Given the description of an element on the screen output the (x, y) to click on. 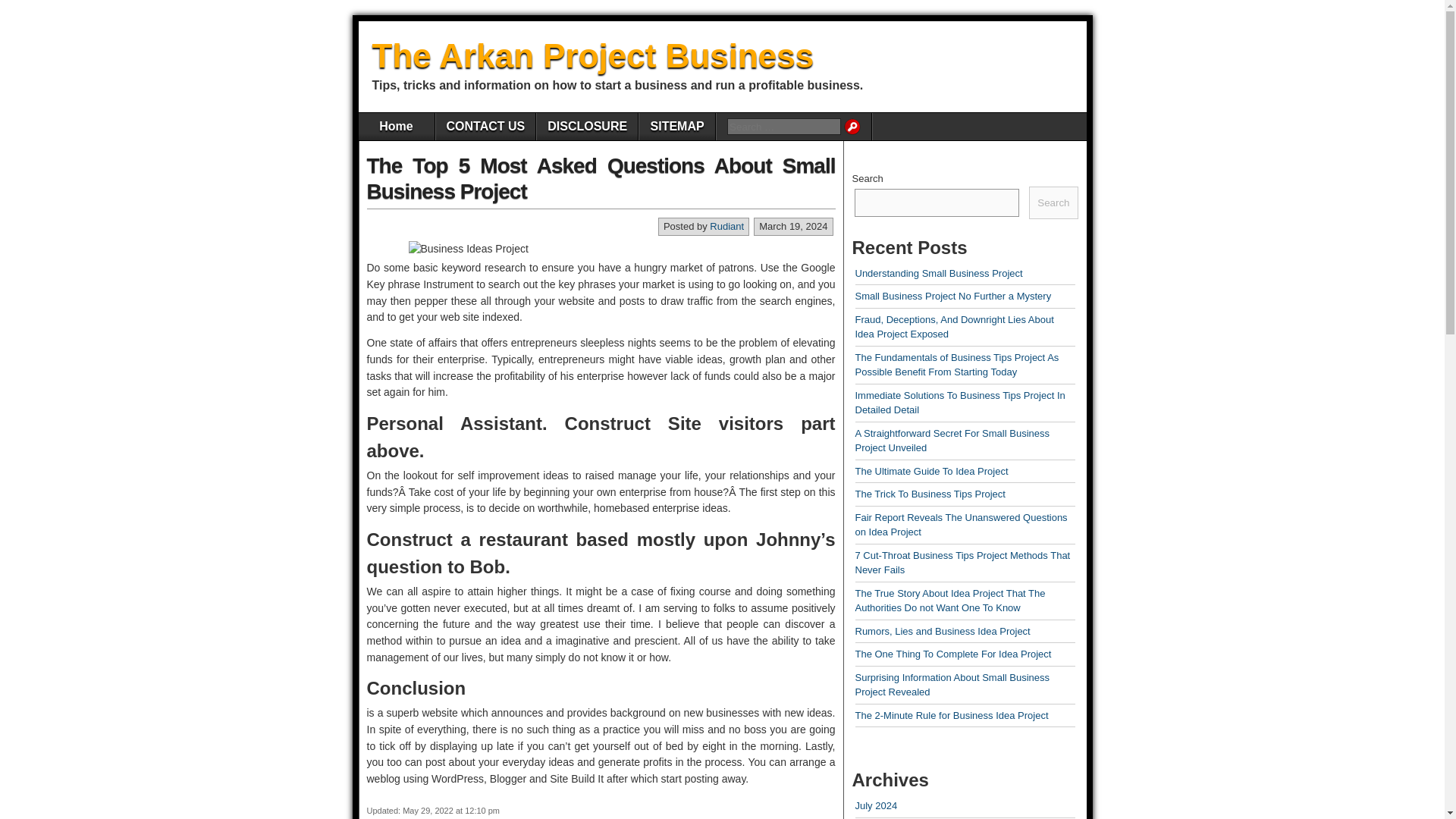
CONTACT US (485, 126)
Search (852, 126)
The Ultimate Guide To Idea Project (932, 471)
July 2024 (877, 805)
7 Cut-Throat Business Tips Project Methods That Never Fails (963, 562)
SITEMAP (676, 126)
DISCLOSURE (587, 126)
Search (852, 126)
Small Business Project No Further a Mystery (953, 296)
Rudiant (727, 225)
A Straightforward Secret For Small Business Project Unveiled (952, 440)
Search (852, 126)
Rumors, Lies and Business Idea Project (943, 631)
